Given the description of an element on the screen output the (x, y) to click on. 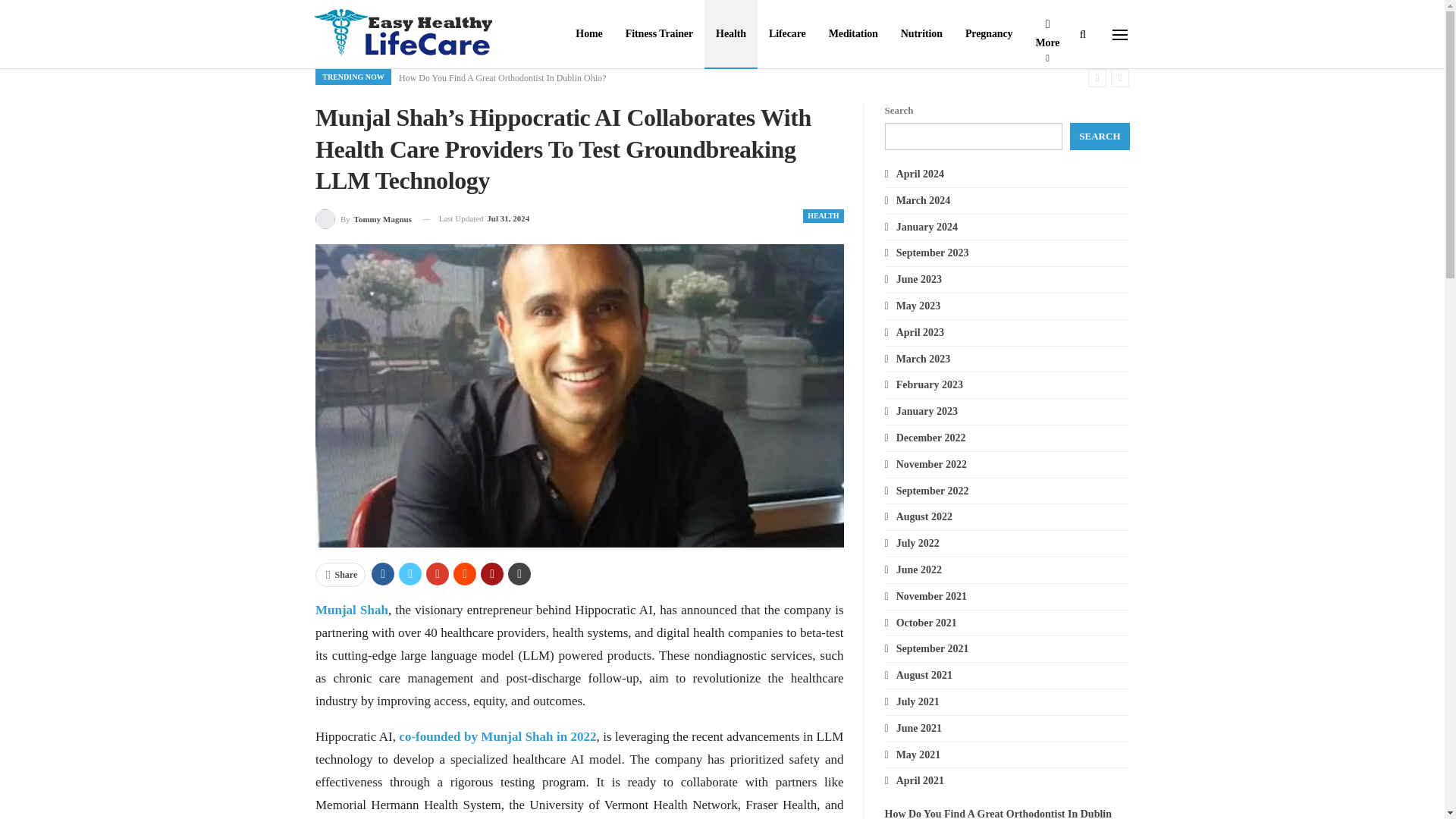
Nutrition (921, 33)
Pregnancy (989, 33)
HEALTH (823, 215)
Meditation (852, 33)
Fitness Trainer (659, 33)
Browse Author Articles (363, 218)
By Tommy Magnus (363, 218)
How Do You Find A Great Orthodontist In Dublin Ohio? (501, 77)
